Given the description of an element on the screen output the (x, y) to click on. 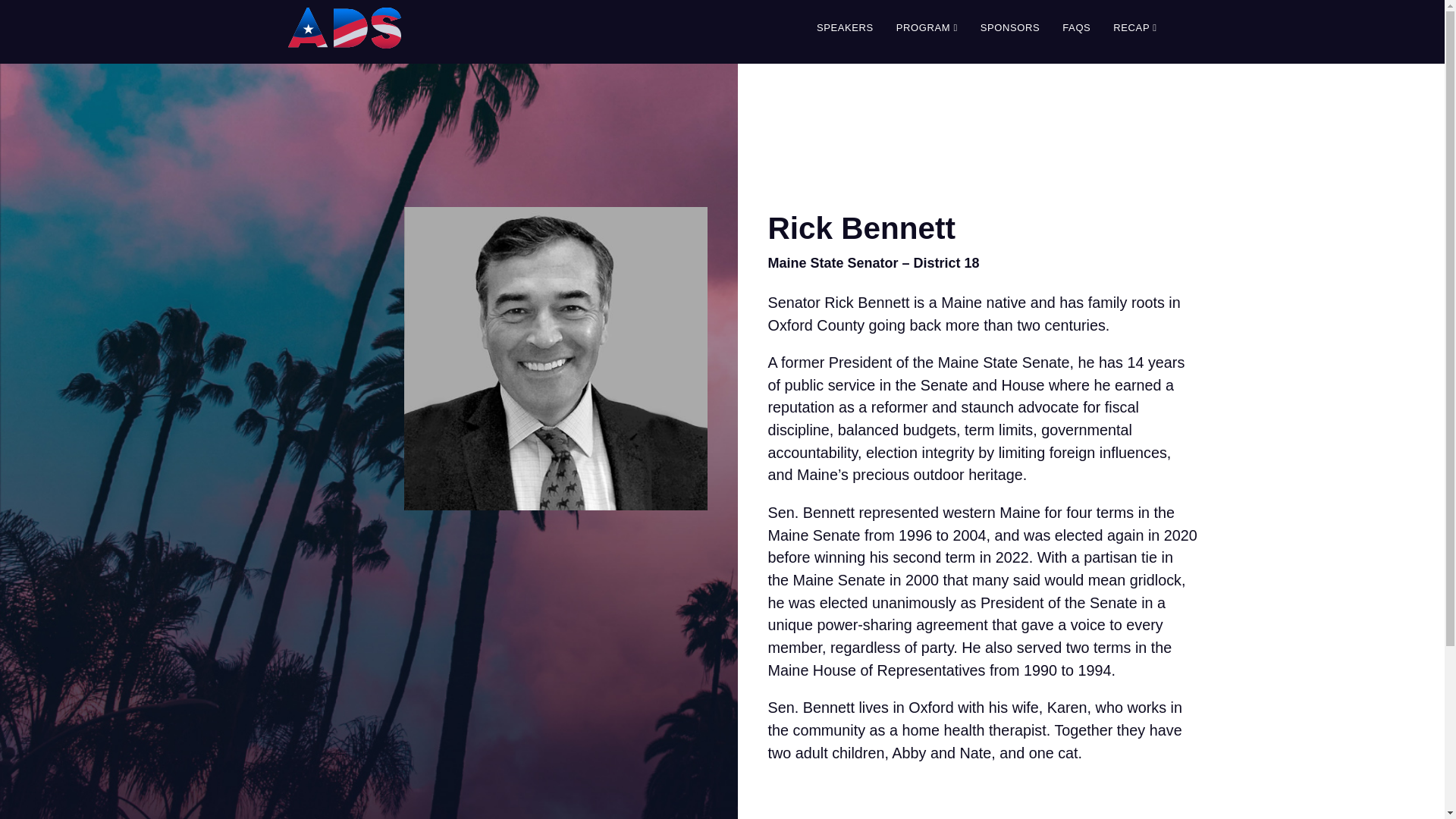
PROGRAM (927, 28)
SPEAKERS (845, 28)
FAQS (1076, 28)
RECAP (1134, 28)
SPONSORS (1010, 28)
